Given the description of an element on the screen output the (x, y) to click on. 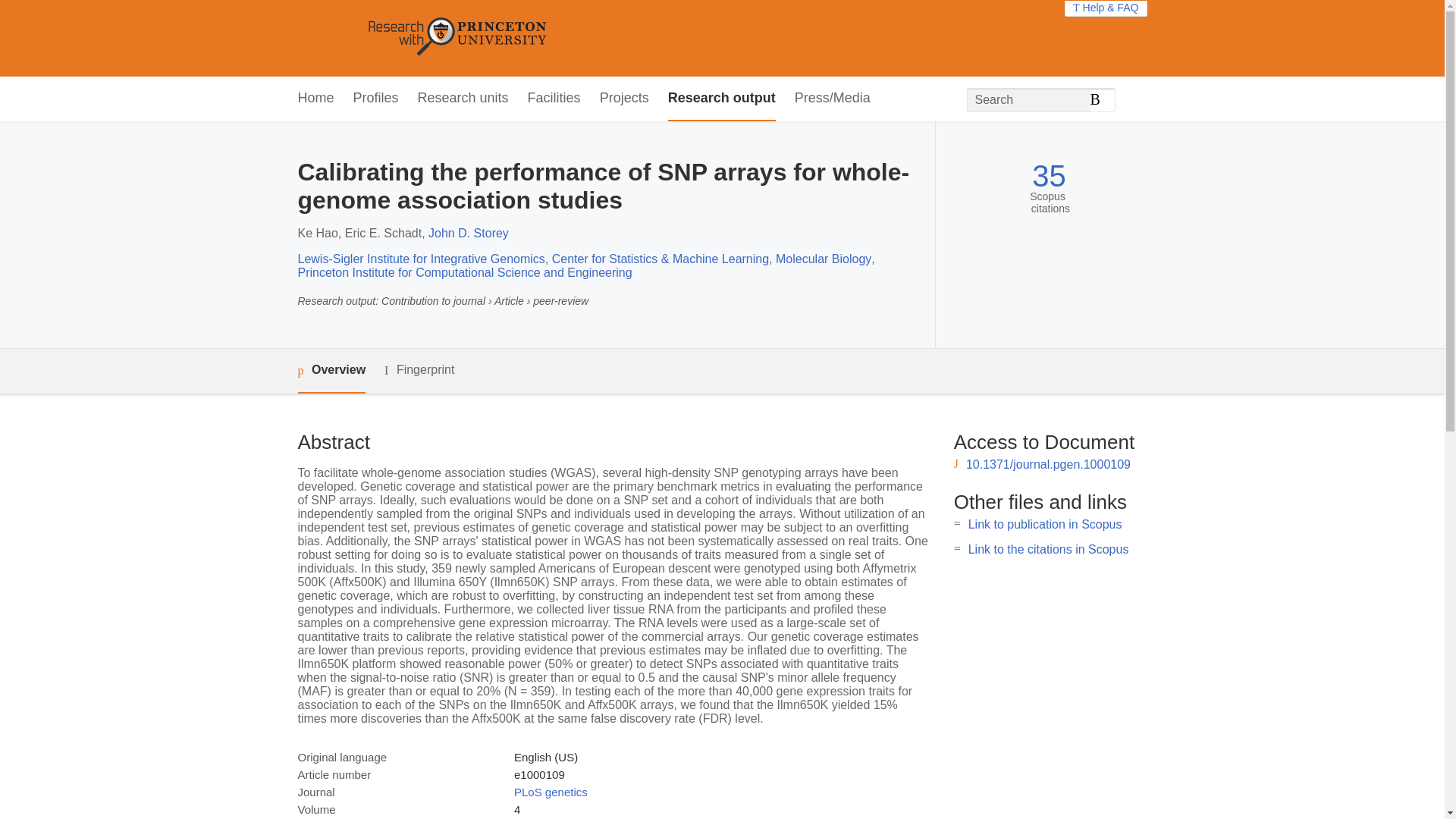
Link to the citations in Scopus (1048, 549)
35 (1048, 175)
Facilities (553, 98)
Research units (462, 98)
Link to publication in Scopus (1045, 523)
Projects (624, 98)
Princeton University Home (567, 38)
Fingerprint (419, 370)
John D. Storey (468, 232)
PLoS genetics (550, 791)
Overview (331, 370)
Profiles (375, 98)
Molecular Biology (823, 258)
